Given the description of an element on the screen output the (x, y) to click on. 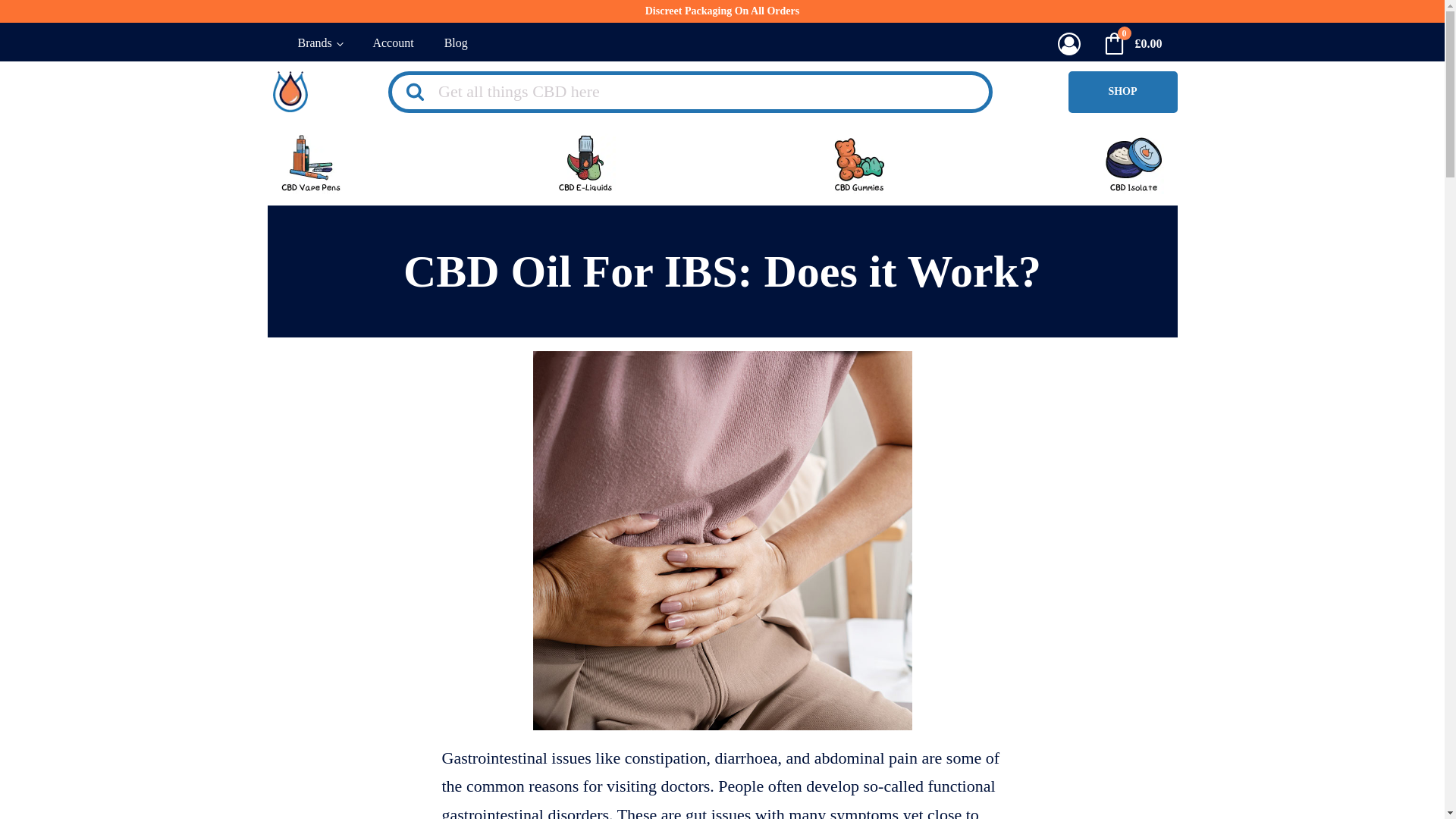
Brands (319, 43)
Account (392, 43)
Search (40, 18)
SHOP (1121, 92)
Blog (456, 43)
